Given the description of an element on the screen output the (x, y) to click on. 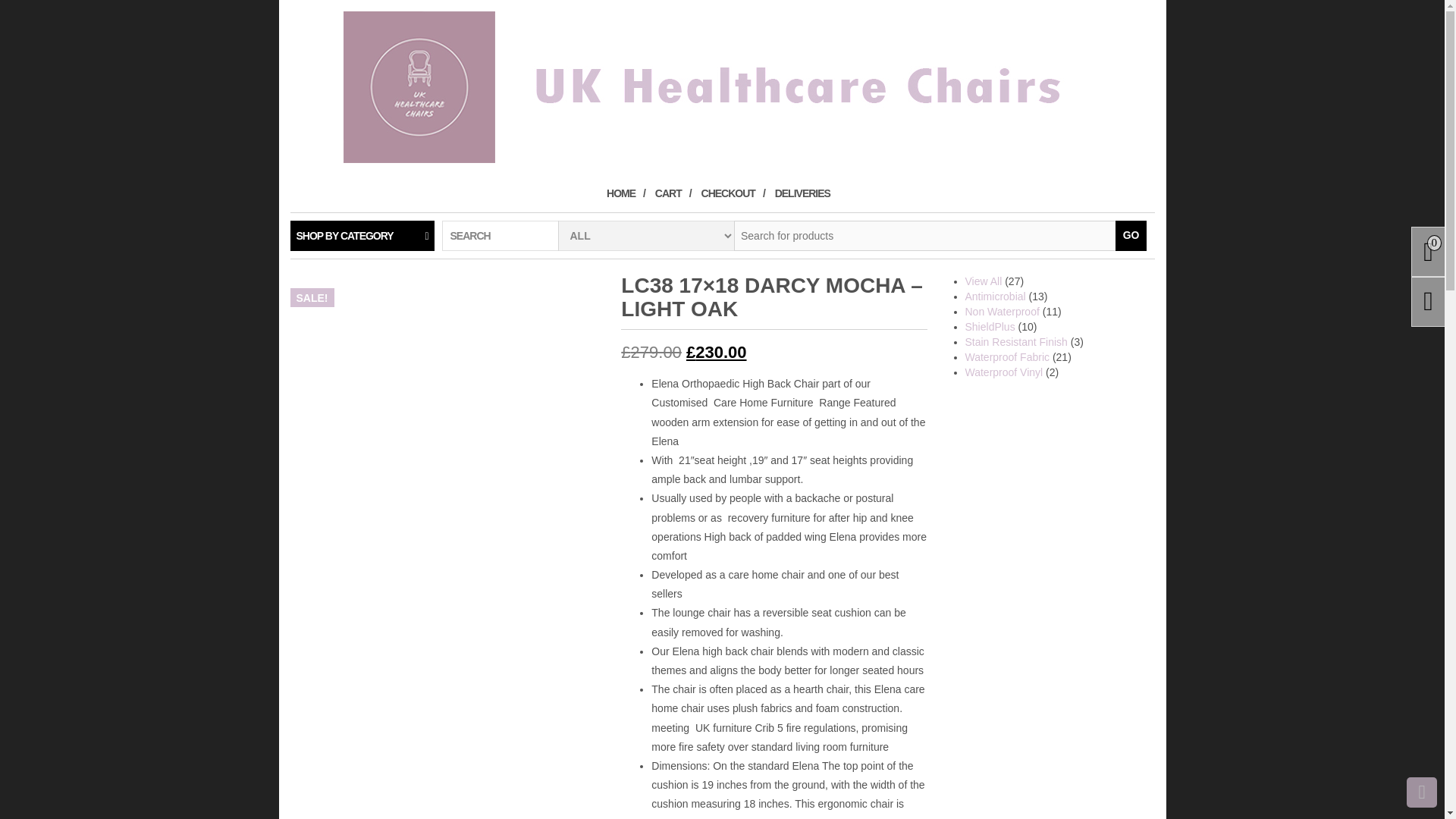
DELIVERIES (806, 193)
CART (672, 193)
UK healthcare chairs (721, 86)
Deliveries (806, 193)
CHECKOUT (732, 193)
Home (625, 193)
SHOP BY CATEGORY (361, 235)
Cart (672, 193)
HOME (625, 193)
GO (1131, 235)
Checkout (732, 193)
